Given the description of an element on the screen output the (x, y) to click on. 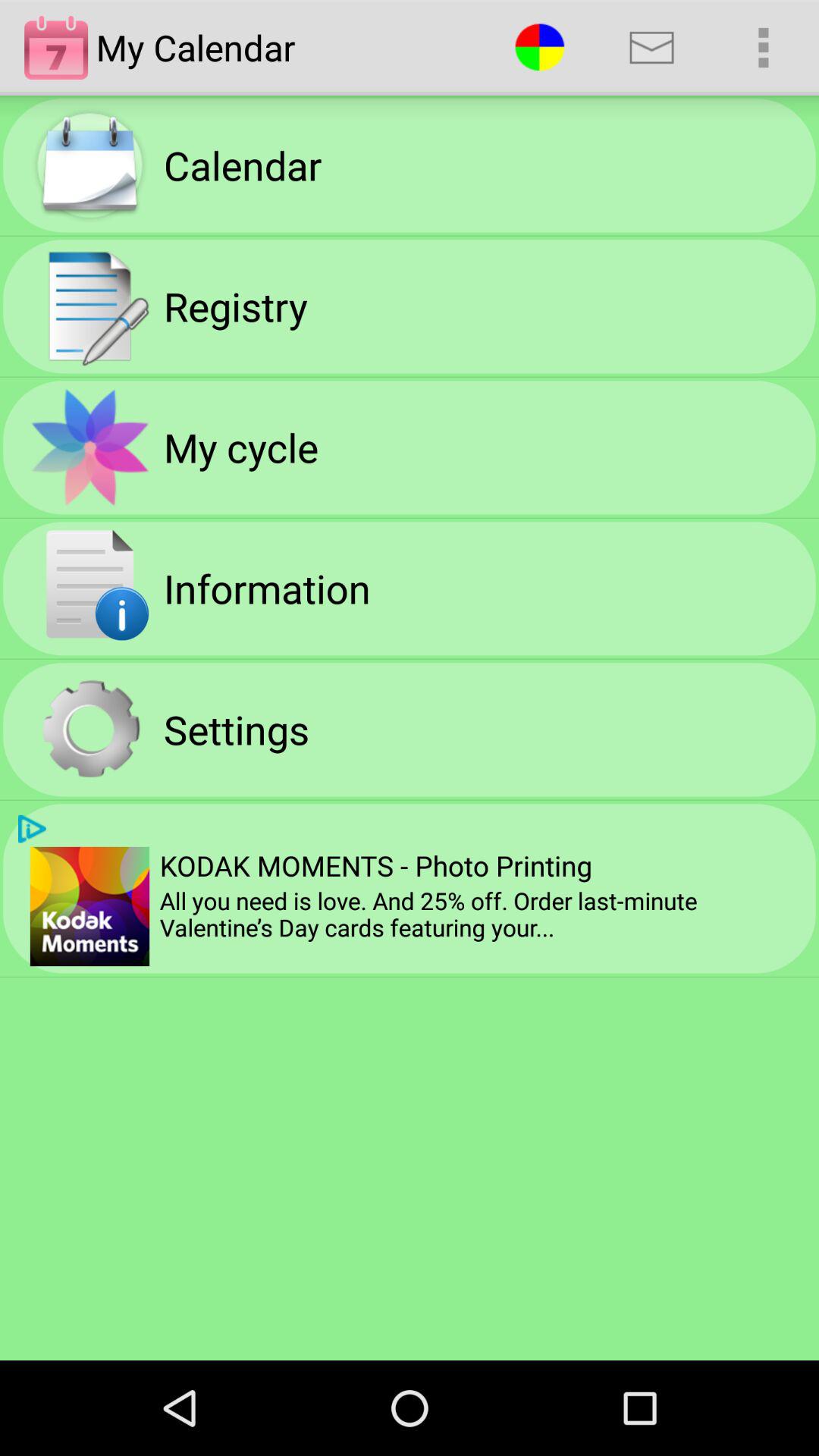
tap the kodak moments photo icon (375, 865)
